Given the description of an element on the screen output the (x, y) to click on. 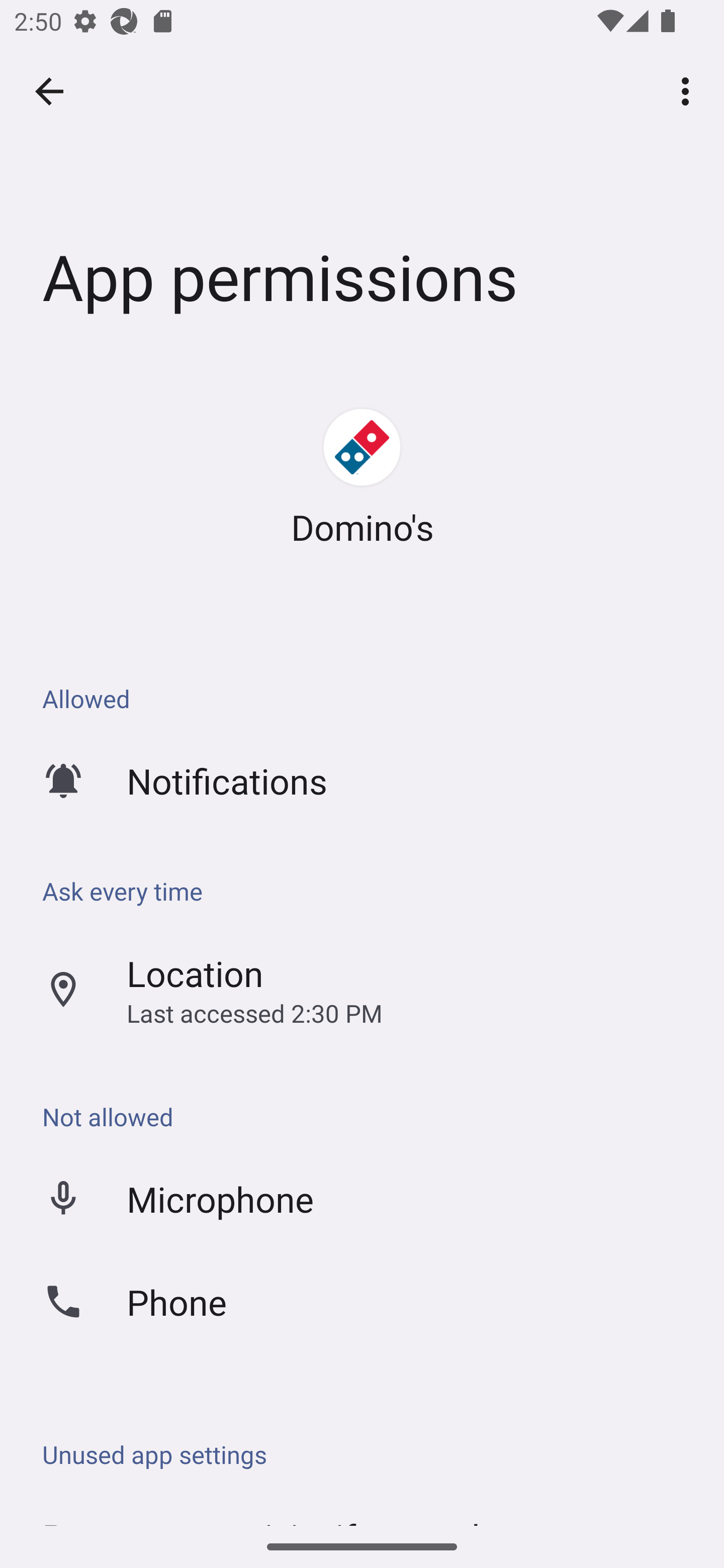
Back (49, 91)
More options (688, 90)
Notifications (362, 780)
Location Last accessed 2:30 PM (362, 989)
Microphone (362, 1198)
Phone (362, 1301)
